Given the description of an element on the screen output the (x, y) to click on. 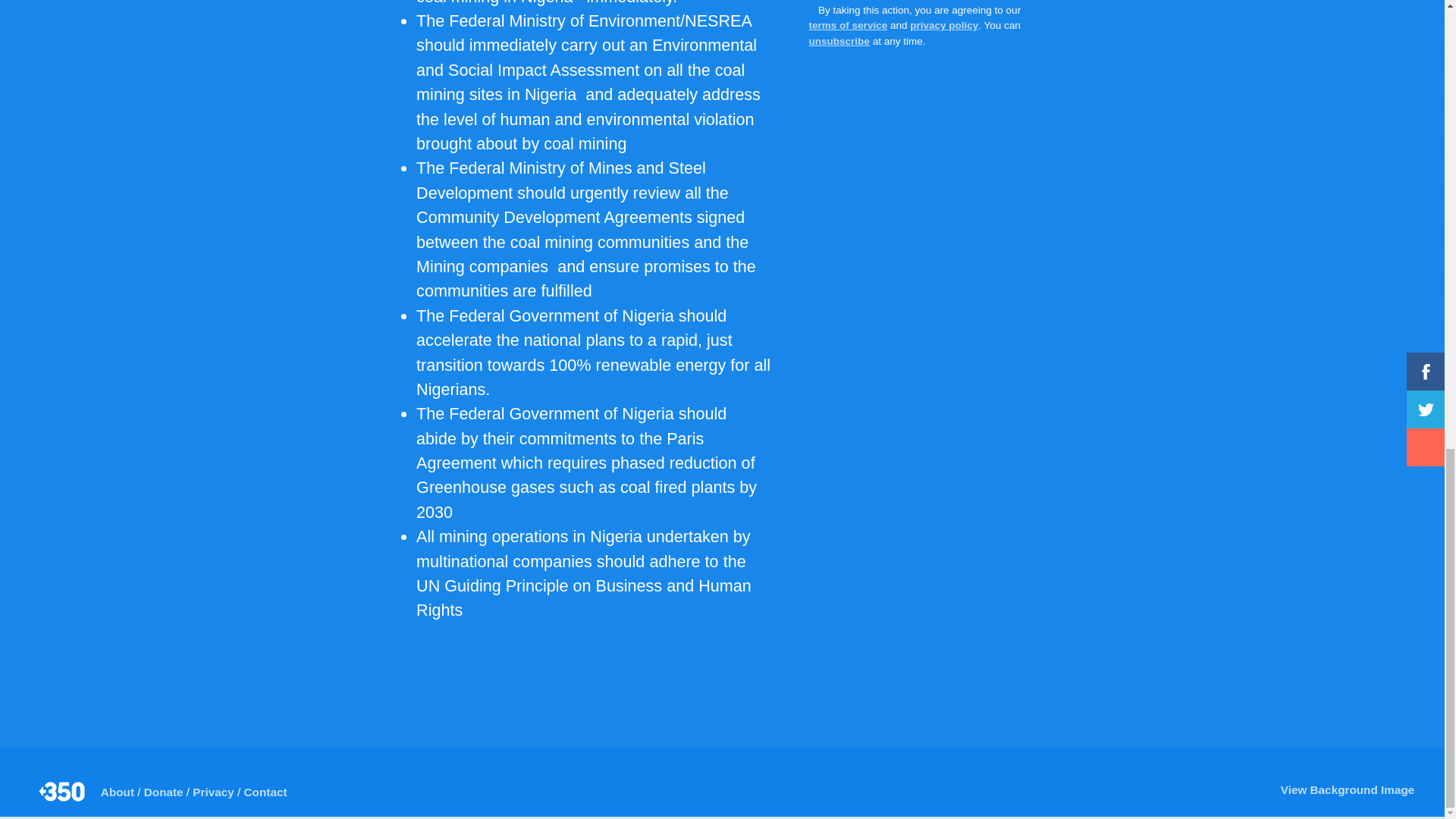
About (116, 791)
Privacy (212, 791)
View Background Image (1343, 790)
privacy policy (944, 25)
terms of service (848, 25)
Contact (265, 791)
350.org (63, 791)
unsubscribe (839, 41)
Donate (163, 791)
